Given the description of an element on the screen output the (x, y) to click on. 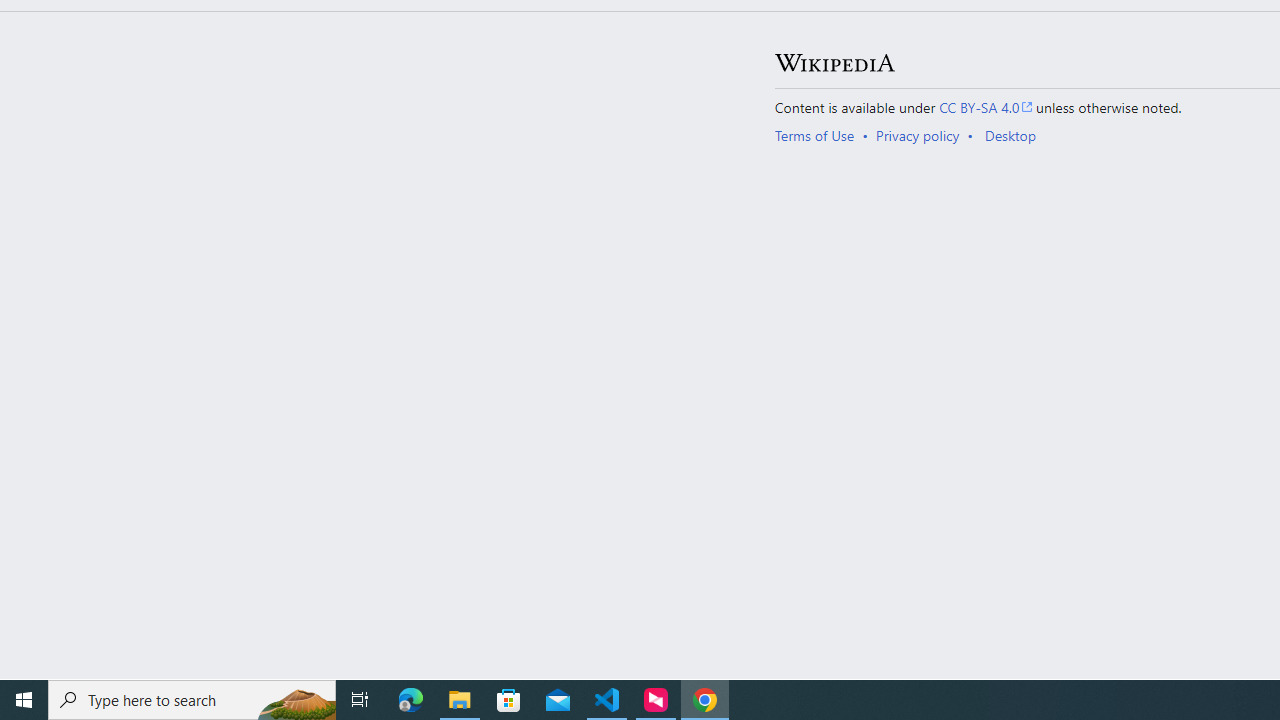
Terms of Use (814, 135)
Privacy policy (917, 135)
AutomationID: footer-places-desktop-toggle (1014, 135)
AutomationID: footer-places-terms-use (820, 135)
Desktop (1010, 135)
Wikipedia (834, 63)
AutomationID: footer-places-privacy (923, 135)
CC BY-SA 4.0 (985, 106)
